Given the description of an element on the screen output the (x, y) to click on. 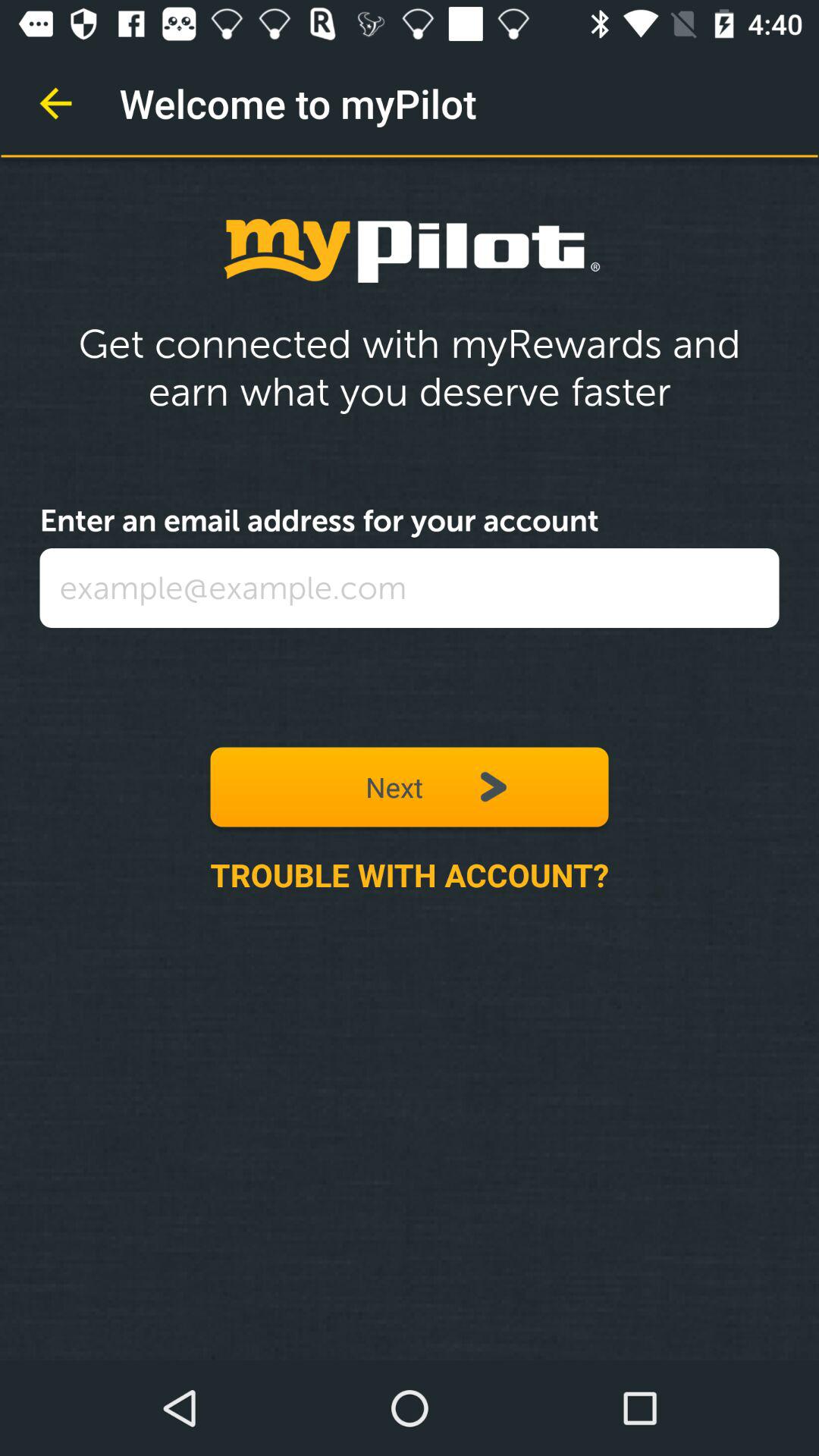
tap the item at the top left corner (55, 103)
